Given the description of an element on the screen output the (x, y) to click on. 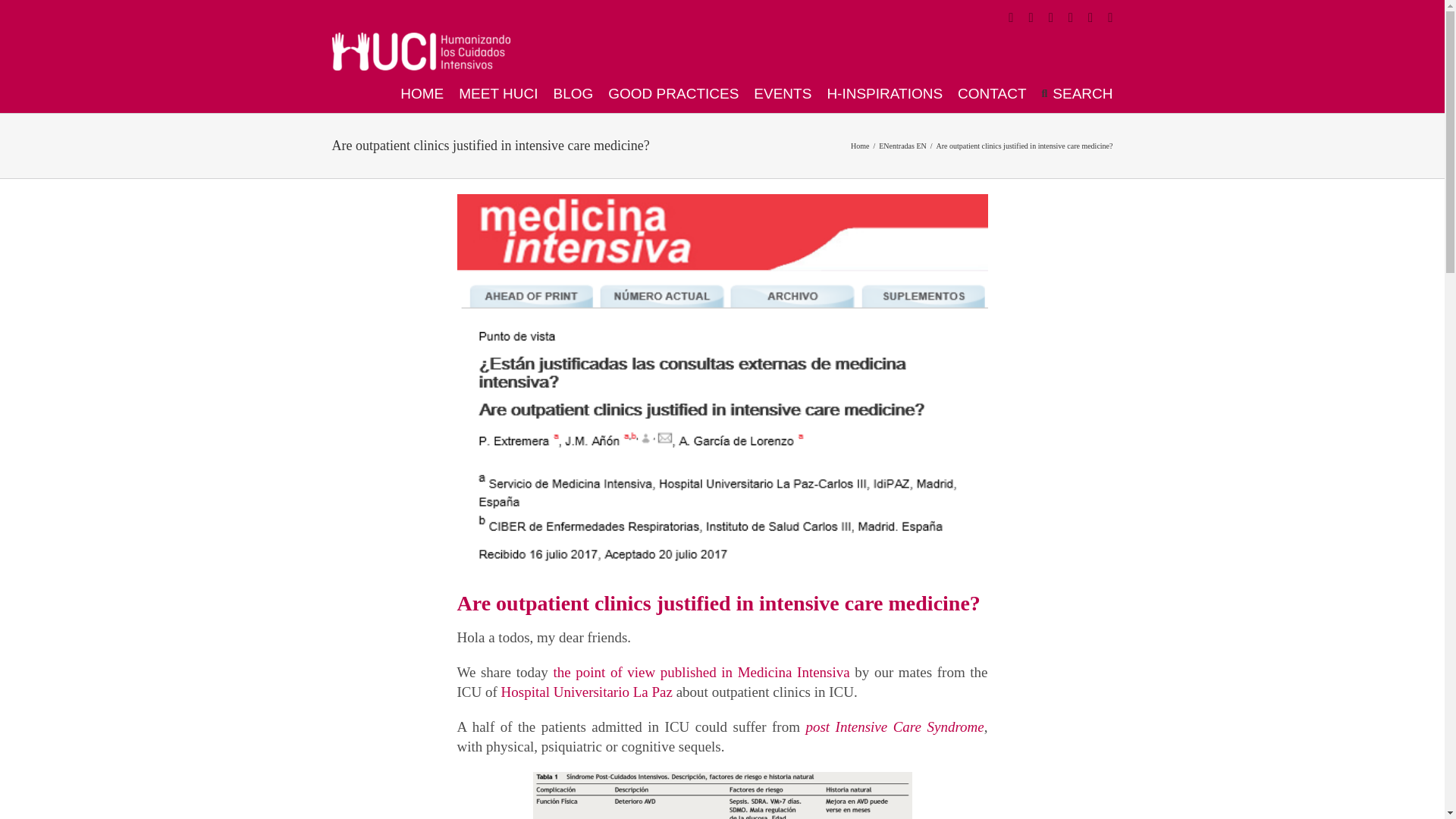
H-INSPIRATIONS (884, 93)
the point of view published in Medicina Intensiva (700, 672)
GOOD PRACTICES (673, 93)
Home (859, 144)
MEET HUCI (497, 93)
BLOG (572, 93)
HOME (422, 93)
CONTACT (992, 93)
EN (883, 144)
entradas EN (907, 144)
